Given the description of an element on the screen output the (x, y) to click on. 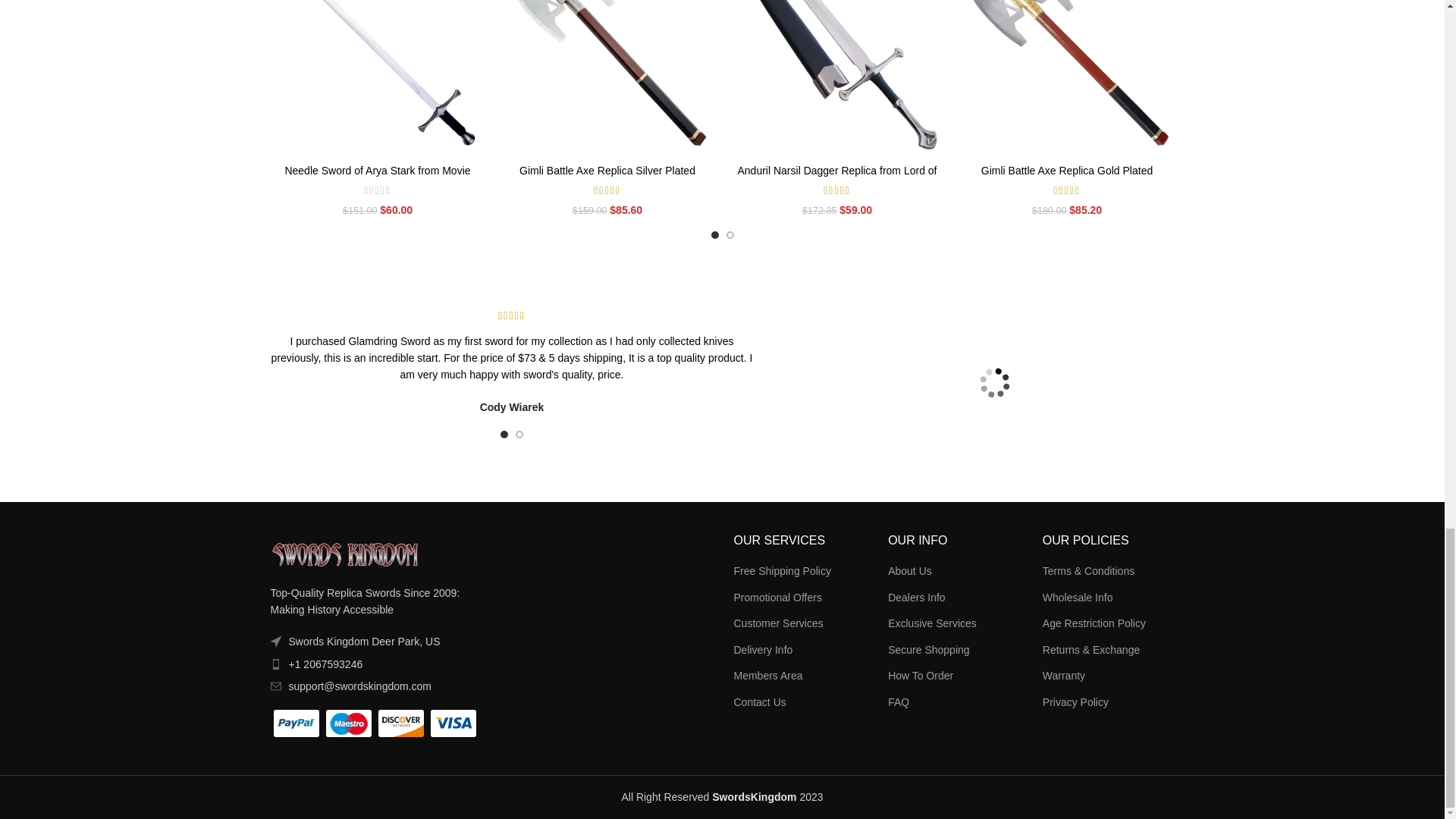
wd-envelope-dark (275, 685)
wd-cursor-dark (275, 641)
wd-phone-dark (275, 664)
